Given the description of an element on the screen output the (x, y) to click on. 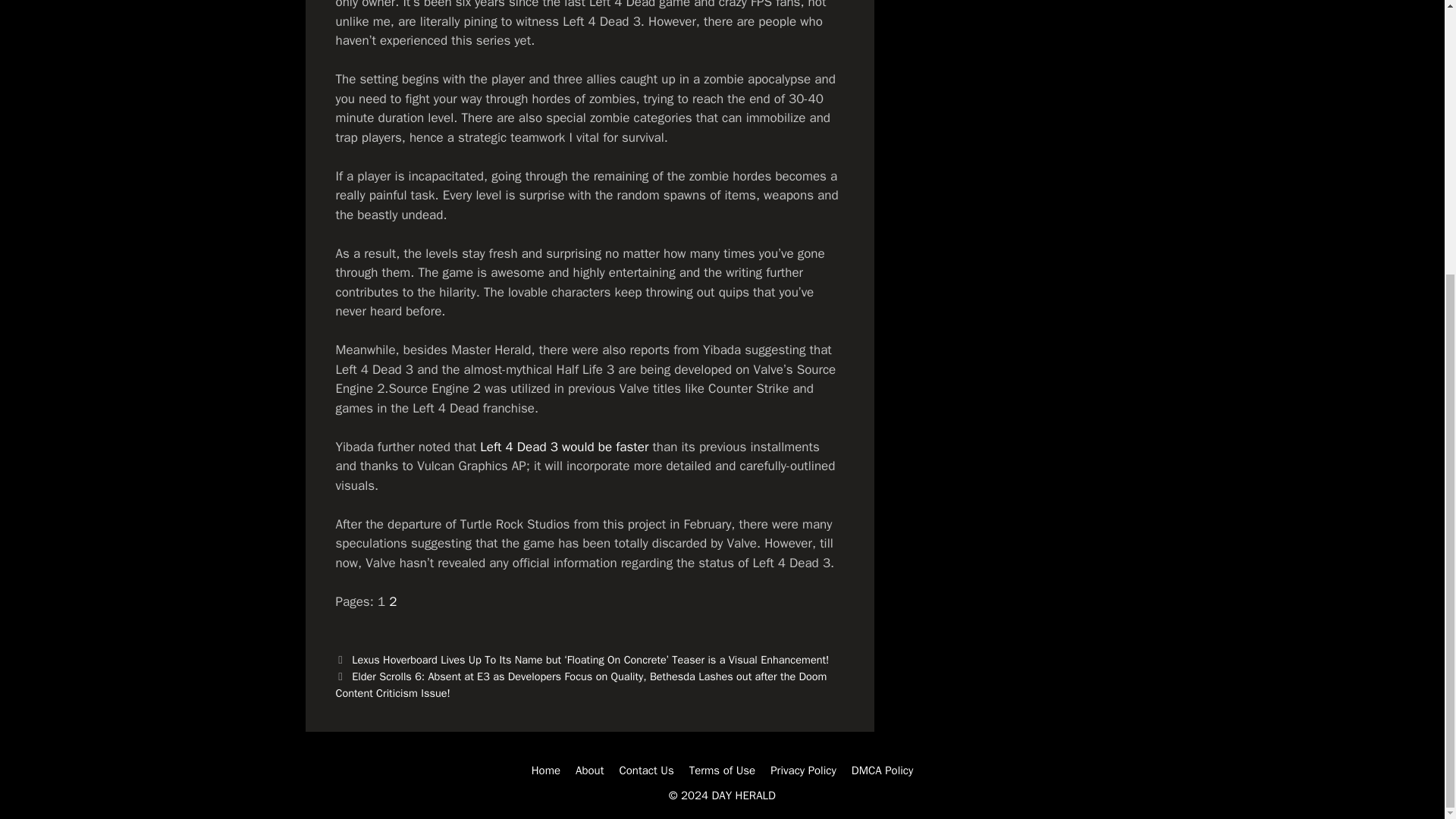
Left 4 Dead 3 would be faster (563, 446)
Privacy Policy (802, 770)
2 (392, 600)
About (589, 770)
Terms of Use (721, 770)
Home (545, 770)
Contact Us (645, 770)
DMCA Policy (882, 770)
